Given the description of an element on the screen output the (x, y) to click on. 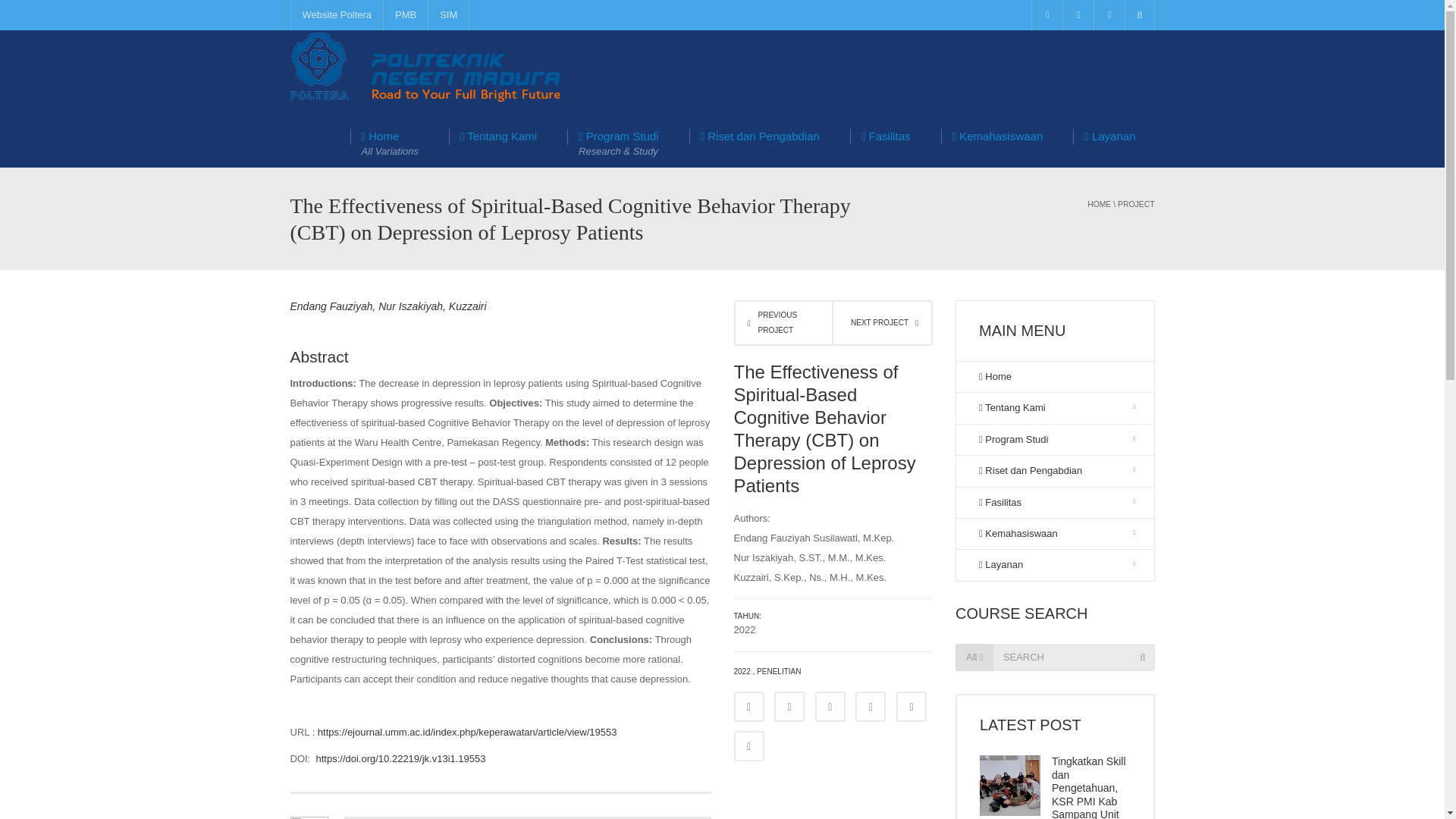
Share on Twitter (789, 706)
Website Poltera (335, 15)
Kemahasiswaan (1007, 136)
Email this (748, 746)
Tentang Kami (507, 136)
Share on Google Plus (830, 706)
Fasilitas (895, 136)
Share on Vk (911, 706)
SIM (448, 15)
